Given the description of an element on the screen output the (x, y) to click on. 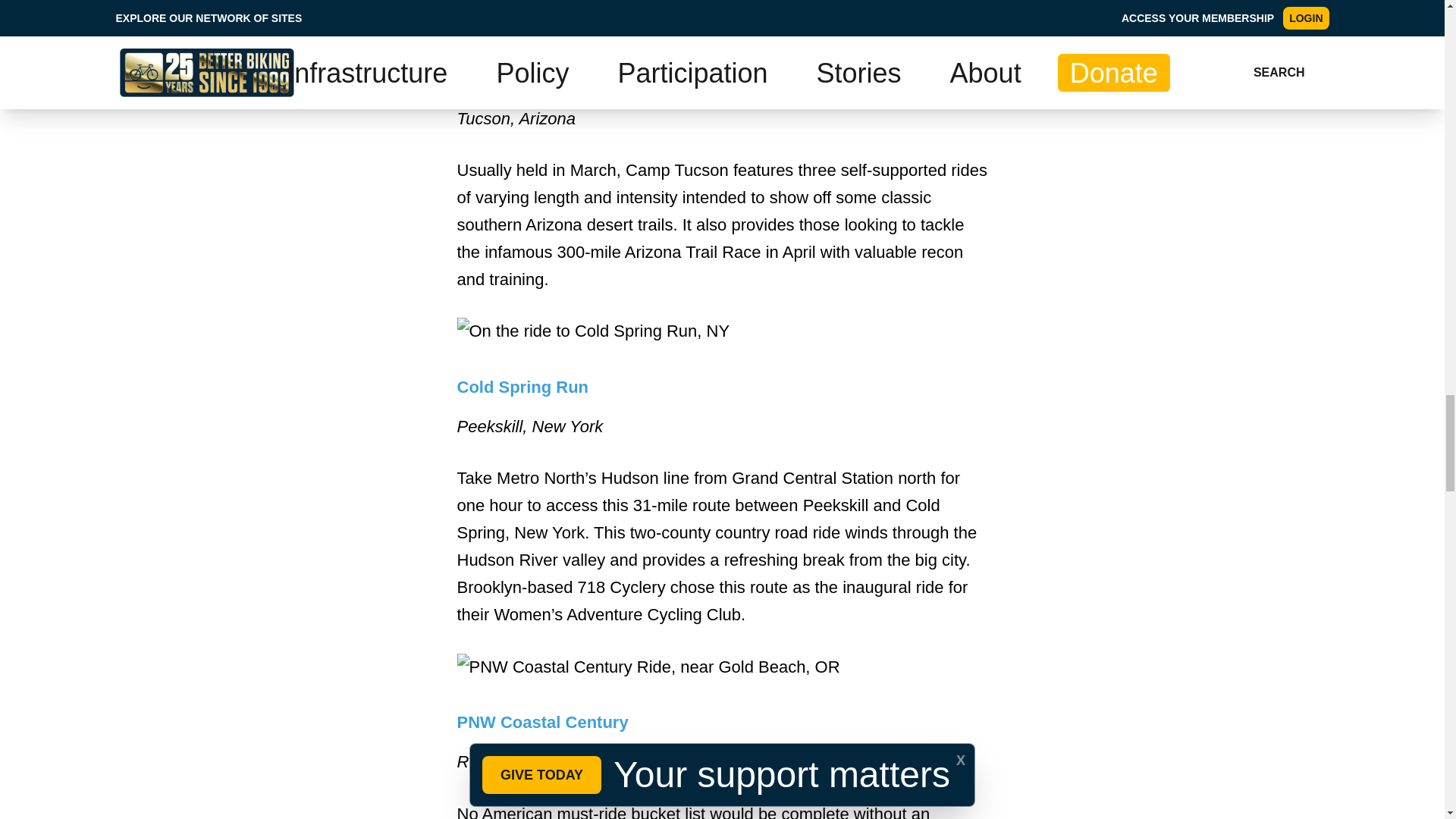
Cold Spring Run (522, 386)
PNW Coastal Century (542, 722)
Camp Tucson (511, 77)
